Given the description of an element on the screen output the (x, y) to click on. 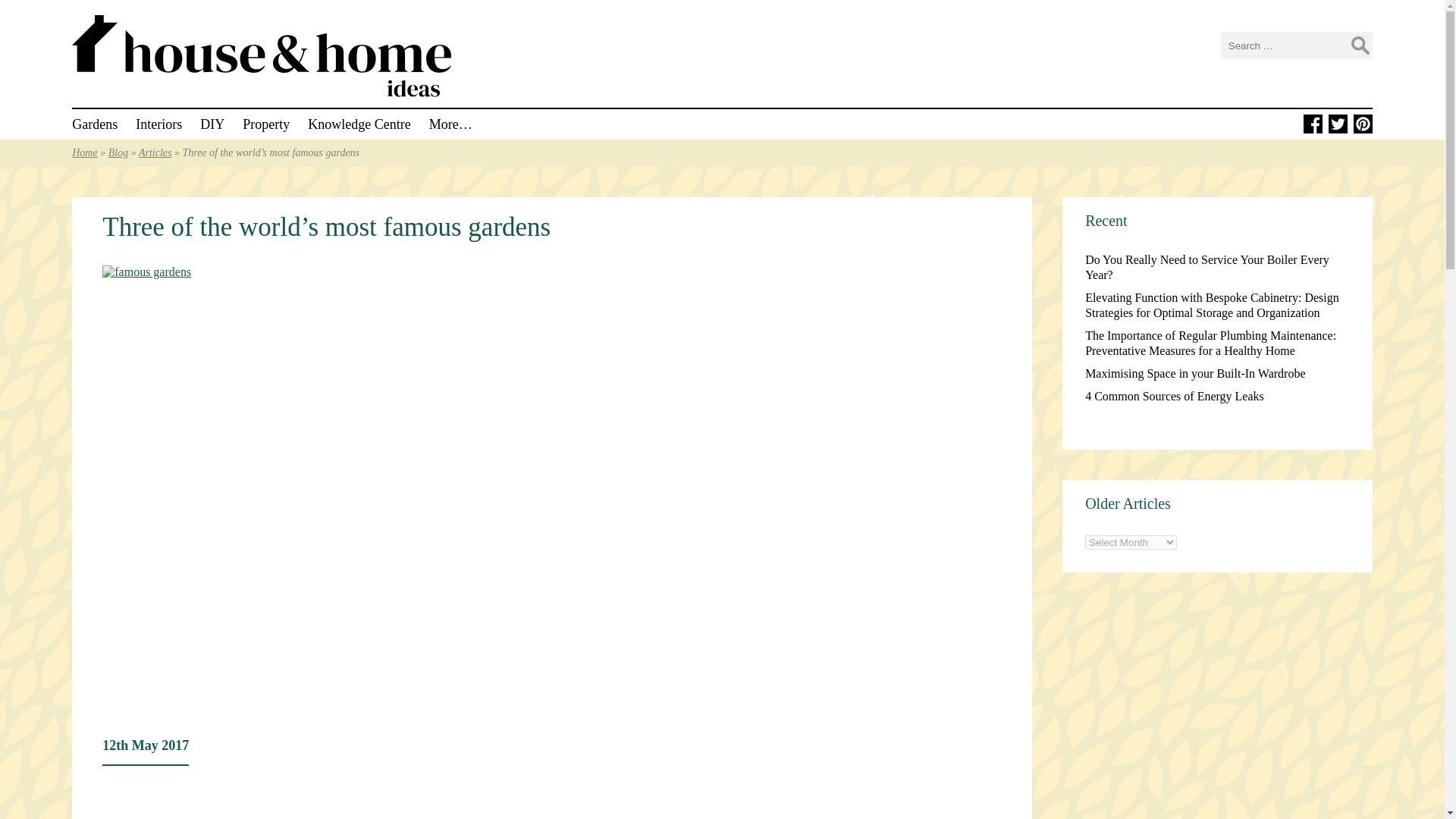
Articles (154, 152)
Interiors (158, 124)
DIY (212, 124)
Do You Really Need to Service Your Boiler Every Year? (1206, 267)
Property (266, 124)
Home (84, 152)
Knowledge Centre (358, 124)
Blog (117, 152)
Gardens (94, 124)
